Given the description of an element on the screen output the (x, y) to click on. 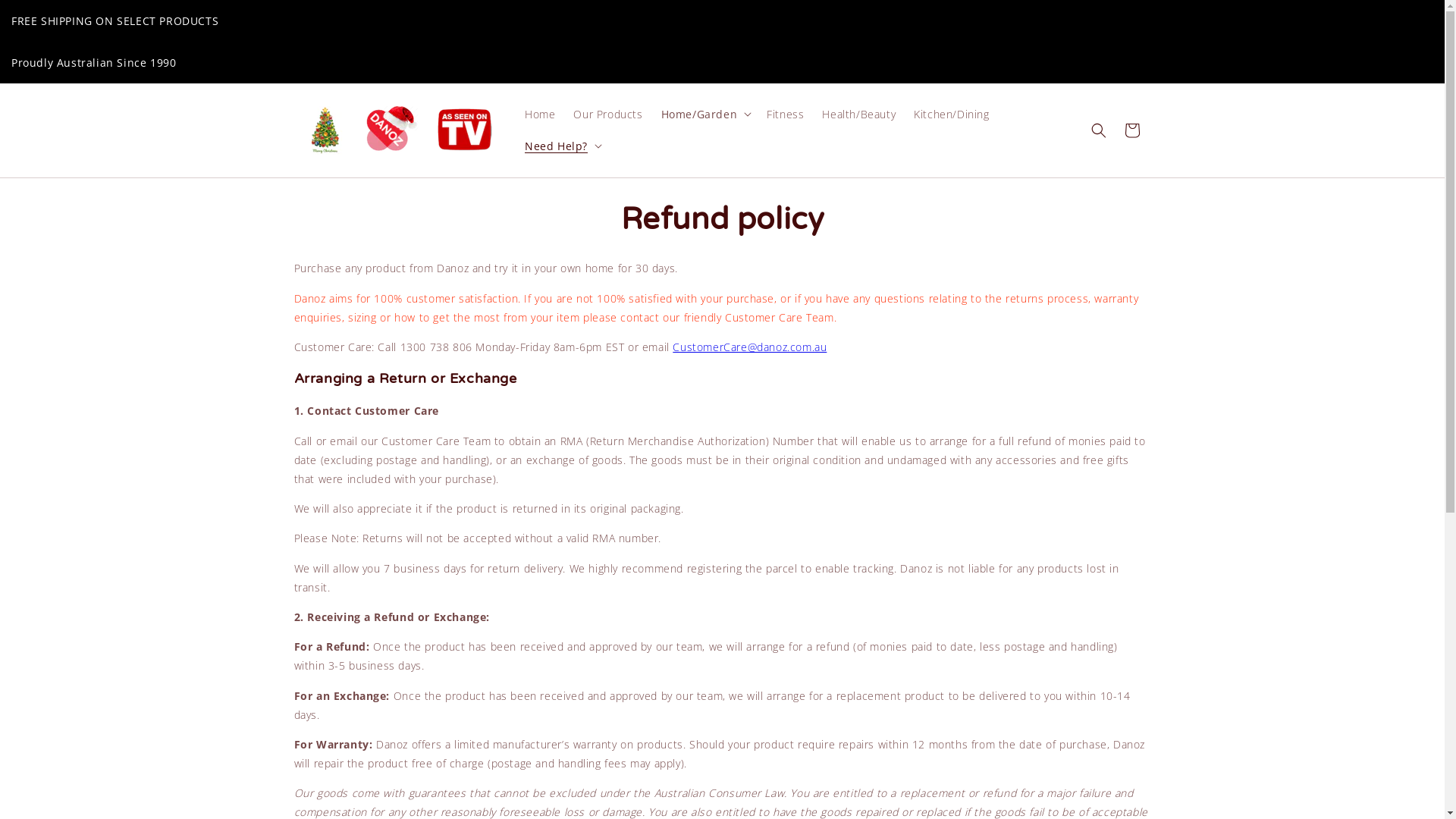
Our Products Element type: text (607, 114)
Home Element type: text (539, 114)
Kitchen/Dining Element type: text (950, 114)
Cart Element type: text (1131, 130)
Health/Beauty Element type: text (858, 114)
Fitness Element type: text (784, 114)
CustomerCare@danoz.com.au Element type: text (749, 346)
